Given the description of an element on the screen output the (x, y) to click on. 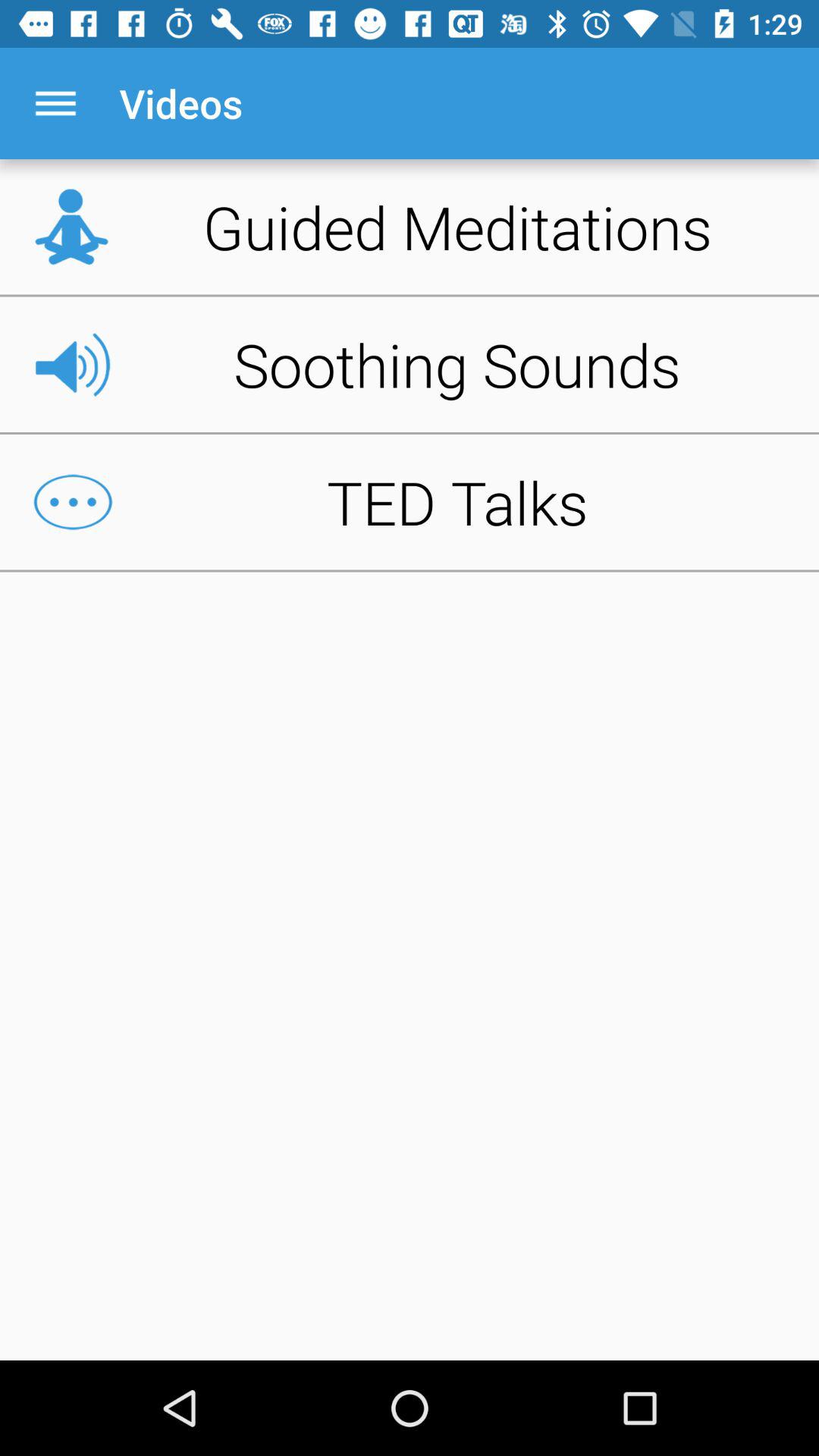
choose icon above guided meditations item (55, 103)
